Given the description of an element on the screen output the (x, y) to click on. 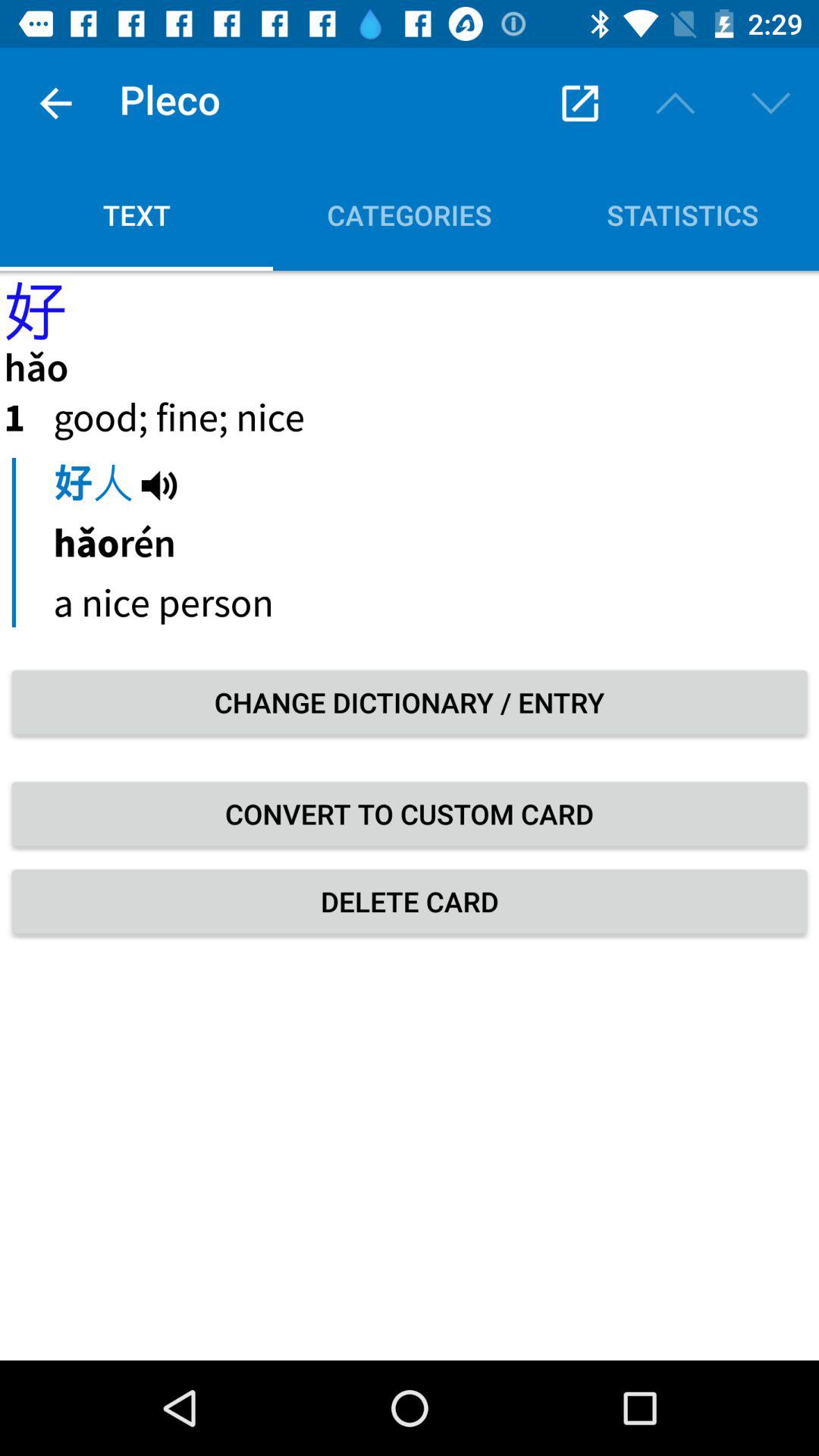
open the icon above the categories (579, 103)
